Given the description of an element on the screen output the (x, y) to click on. 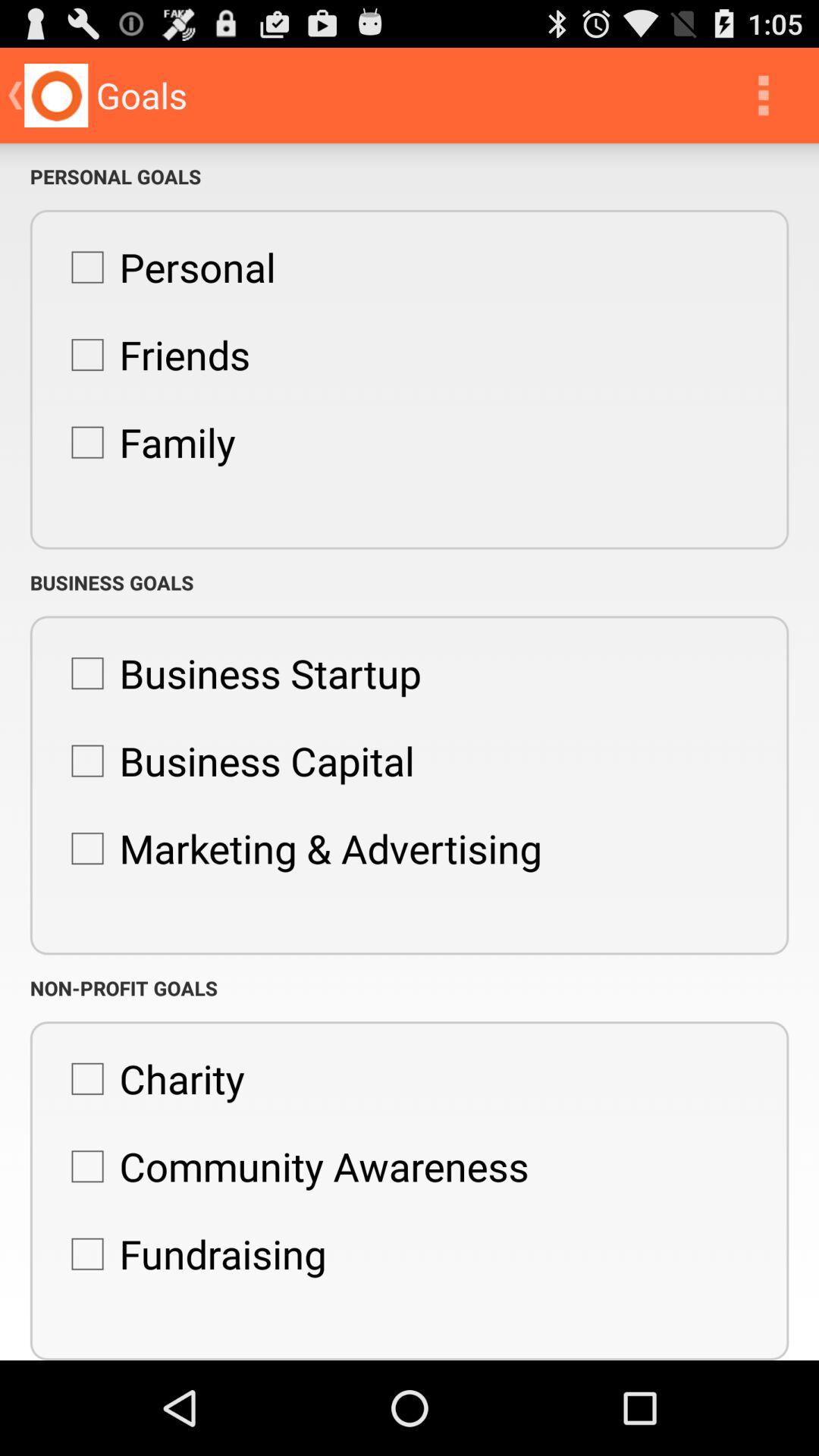
select checkbox at the center (298, 848)
